Given the description of an element on the screen output the (x, y) to click on. 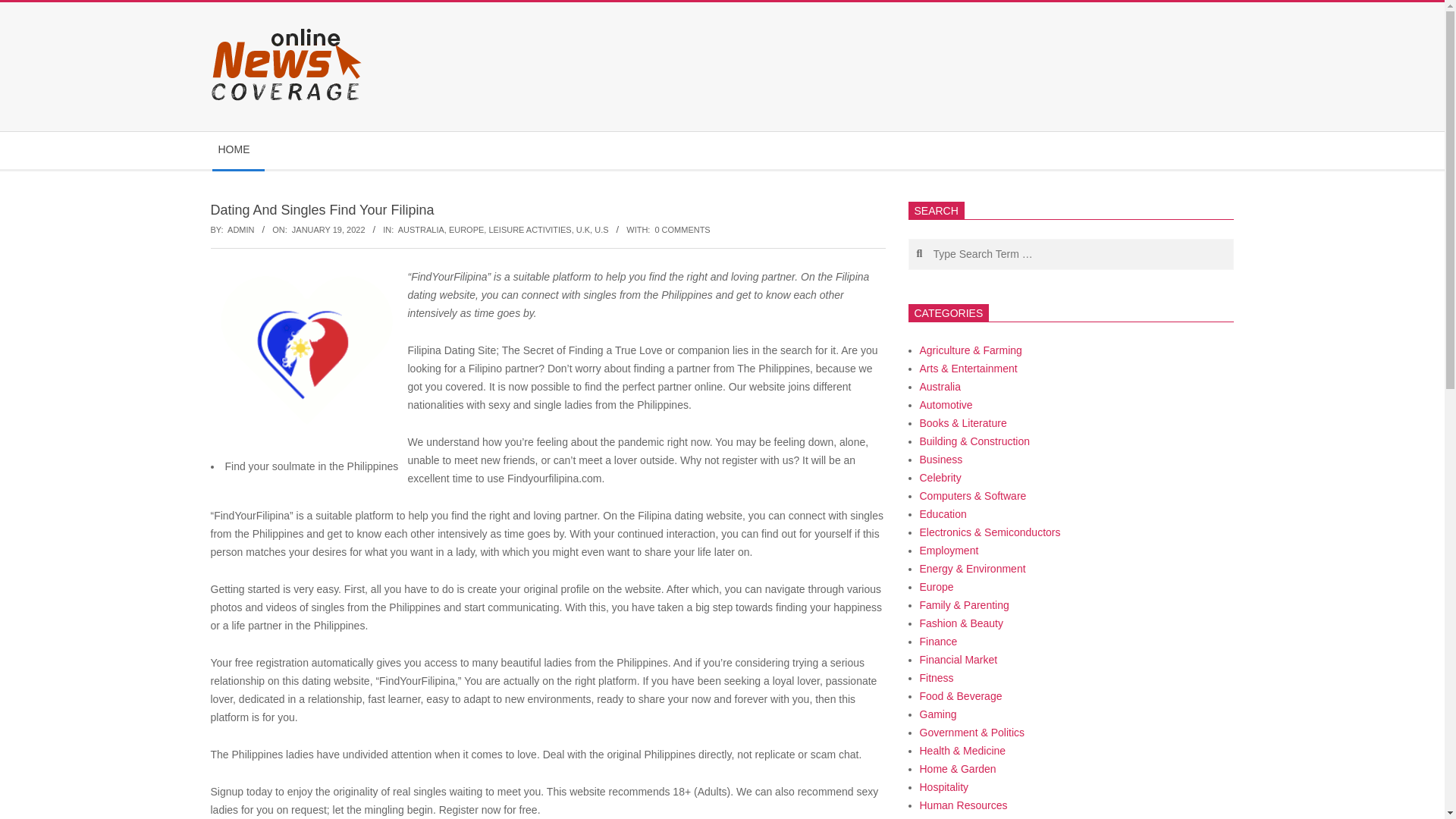
Posts by admin (240, 229)
Gaming (937, 714)
0 COMMENTS (681, 229)
Automotive (945, 404)
Europe (935, 586)
LEISURE ACTIVITIES (528, 229)
Wednesday, January 19, 2022, 12:00 am (328, 229)
Business (940, 459)
Fitness (935, 677)
AUSTRALIA (420, 229)
Financial Market (957, 659)
Education (942, 513)
Finance (937, 641)
U.K (582, 229)
Celebrity (939, 477)
